Given the description of an element on the screen output the (x, y) to click on. 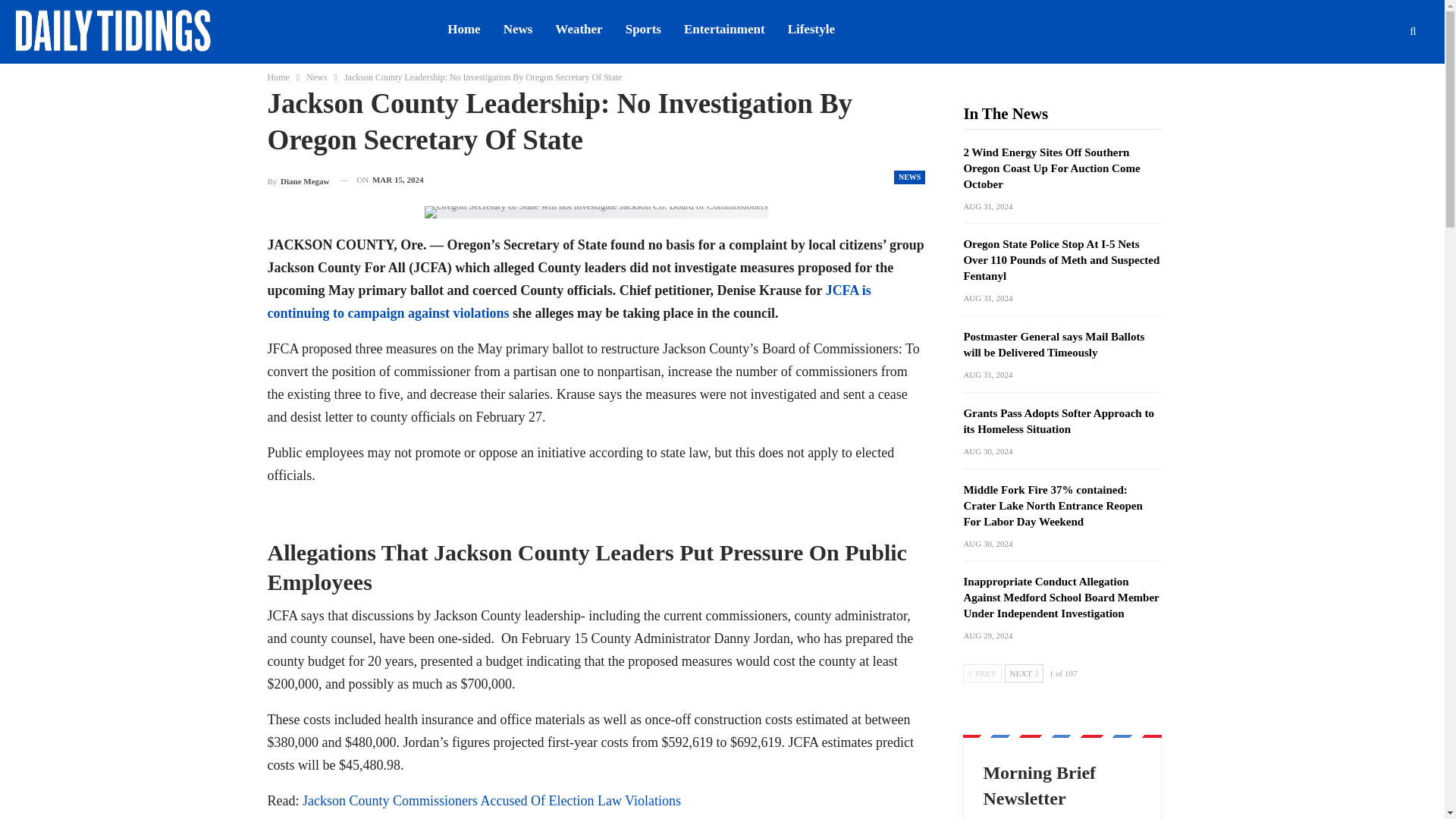
Home (277, 76)
Lifestyle (810, 29)
By Diane Megaw (297, 179)
NEWS (908, 177)
Previous (981, 673)
Weather (577, 29)
JCFA is continuing to campaign against violations (568, 301)
Sports (643, 29)
Browse Author Articles (297, 179)
